Given the description of an element on the screen output the (x, y) to click on. 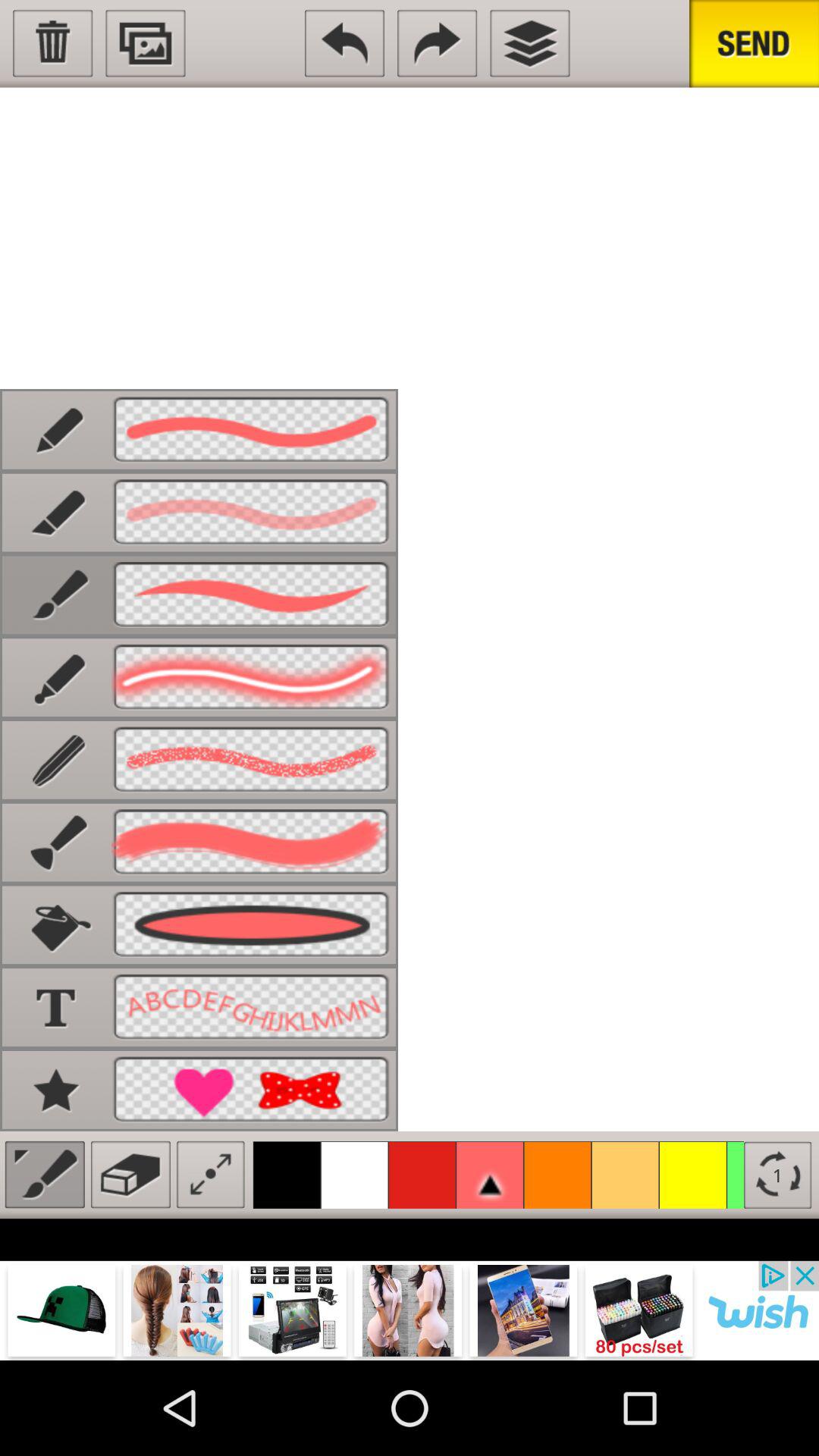
send sketch (754, 43)
